Given the description of an element on the screen output the (x, y) to click on. 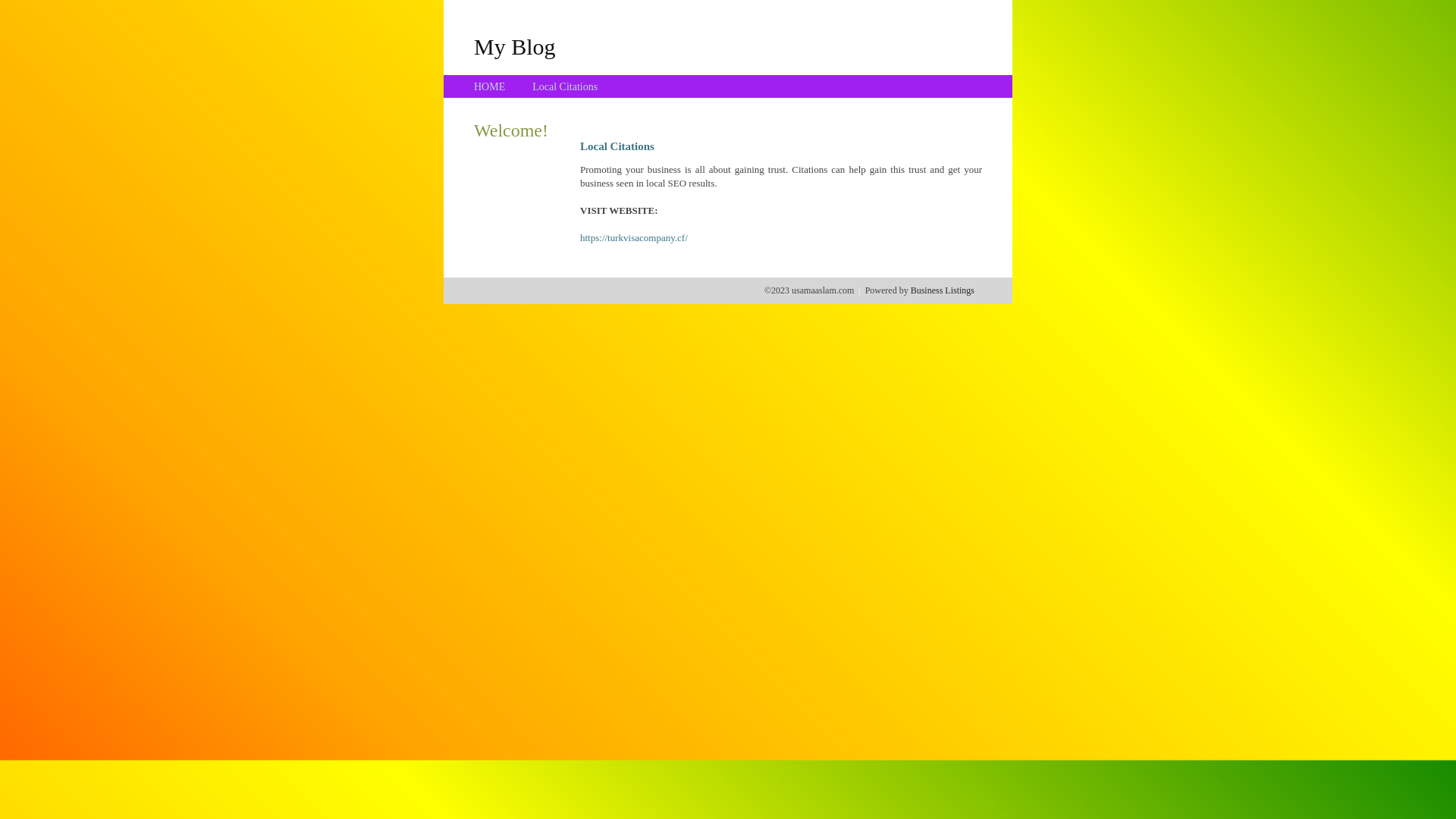
Local Citations Element type: text (564, 86)
https://turkvisacompany.cf/ Element type: text (633, 237)
Business Listings Element type: text (942, 290)
My Blog Element type: text (514, 46)
HOME Element type: text (489, 86)
